Given the description of an element on the screen output the (x, y) to click on. 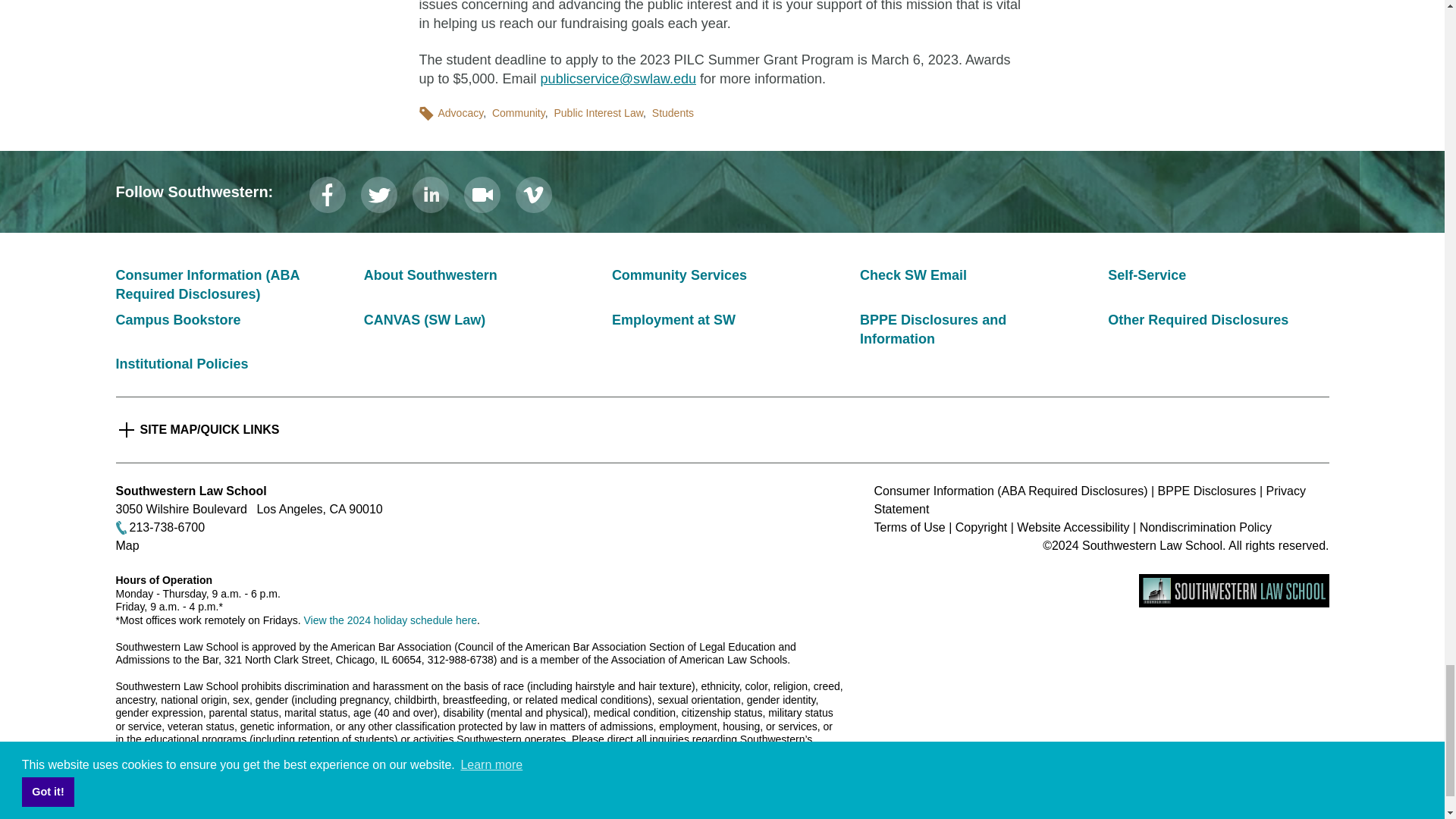
On-Campus Bookstore is in Westmoreland basement (177, 319)
